Given the description of an element on the screen output the (x, y) to click on. 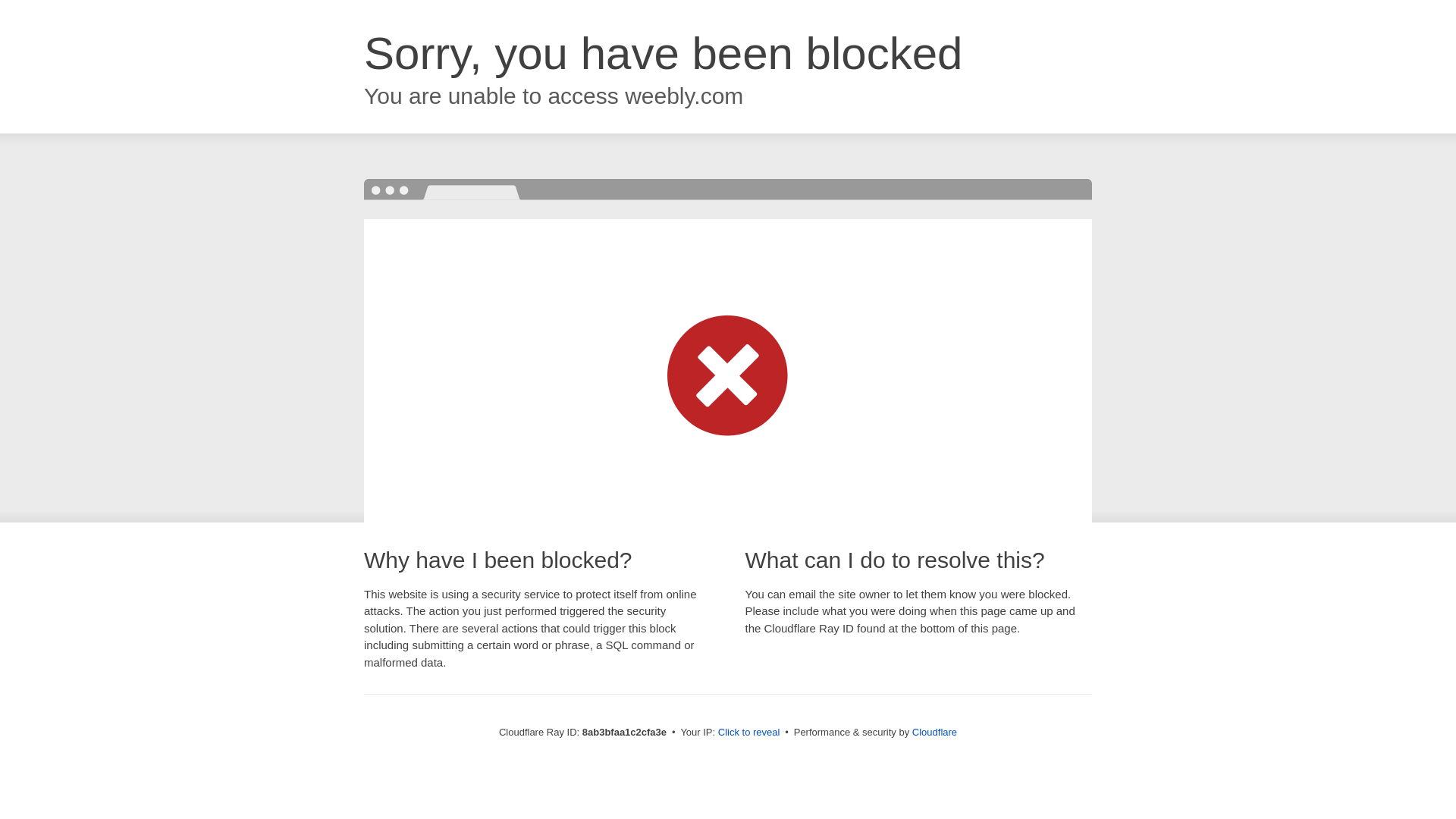
Cloudflare (934, 731)
Click to reveal (748, 732)
